Given the description of an element on the screen output the (x, y) to click on. 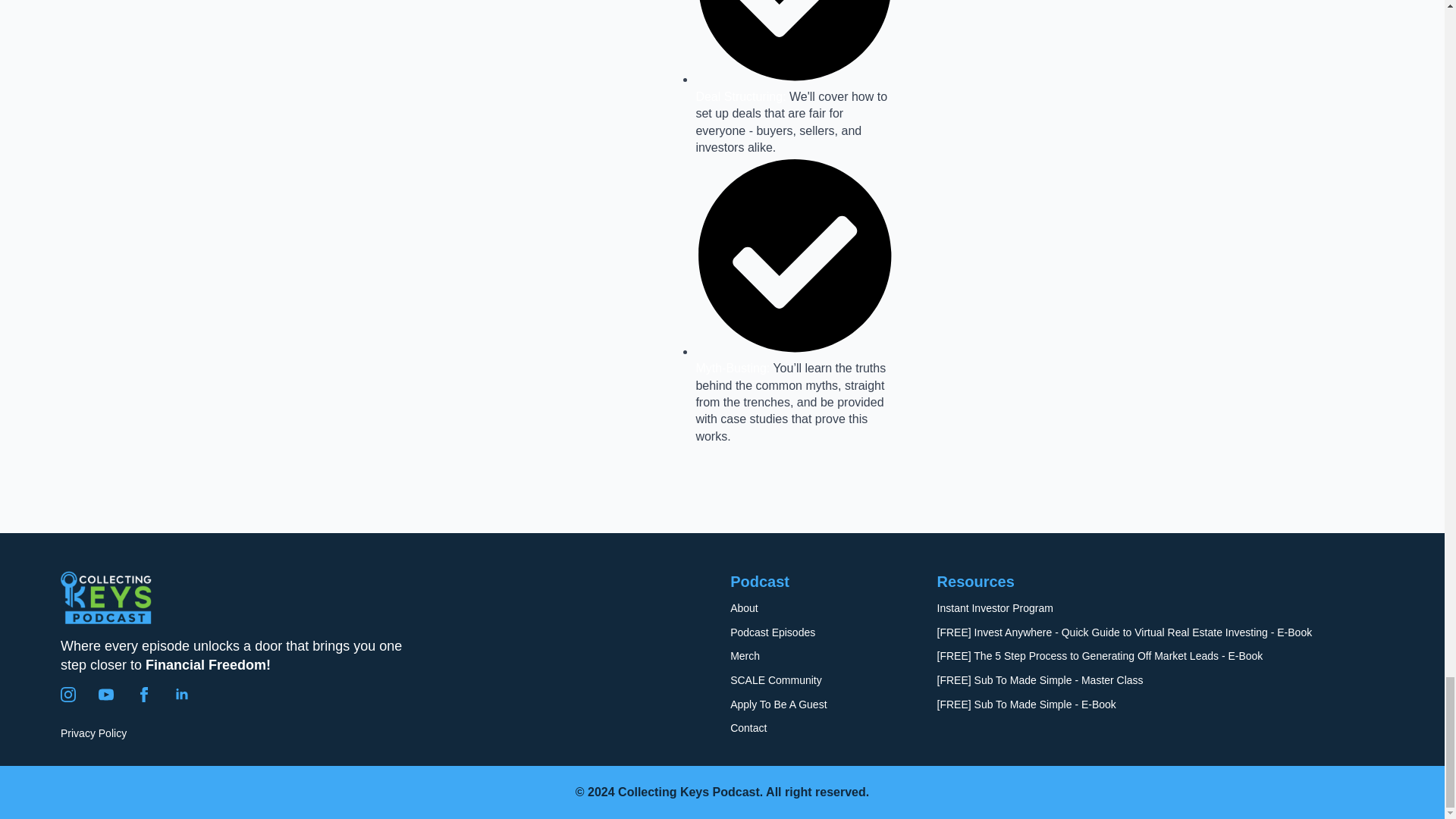
About (744, 608)
Podcast Episodes (772, 632)
Merch (745, 656)
SCALE Community (776, 680)
Privacy Policy (93, 734)
